Given the description of an element on the screen output the (x, y) to click on. 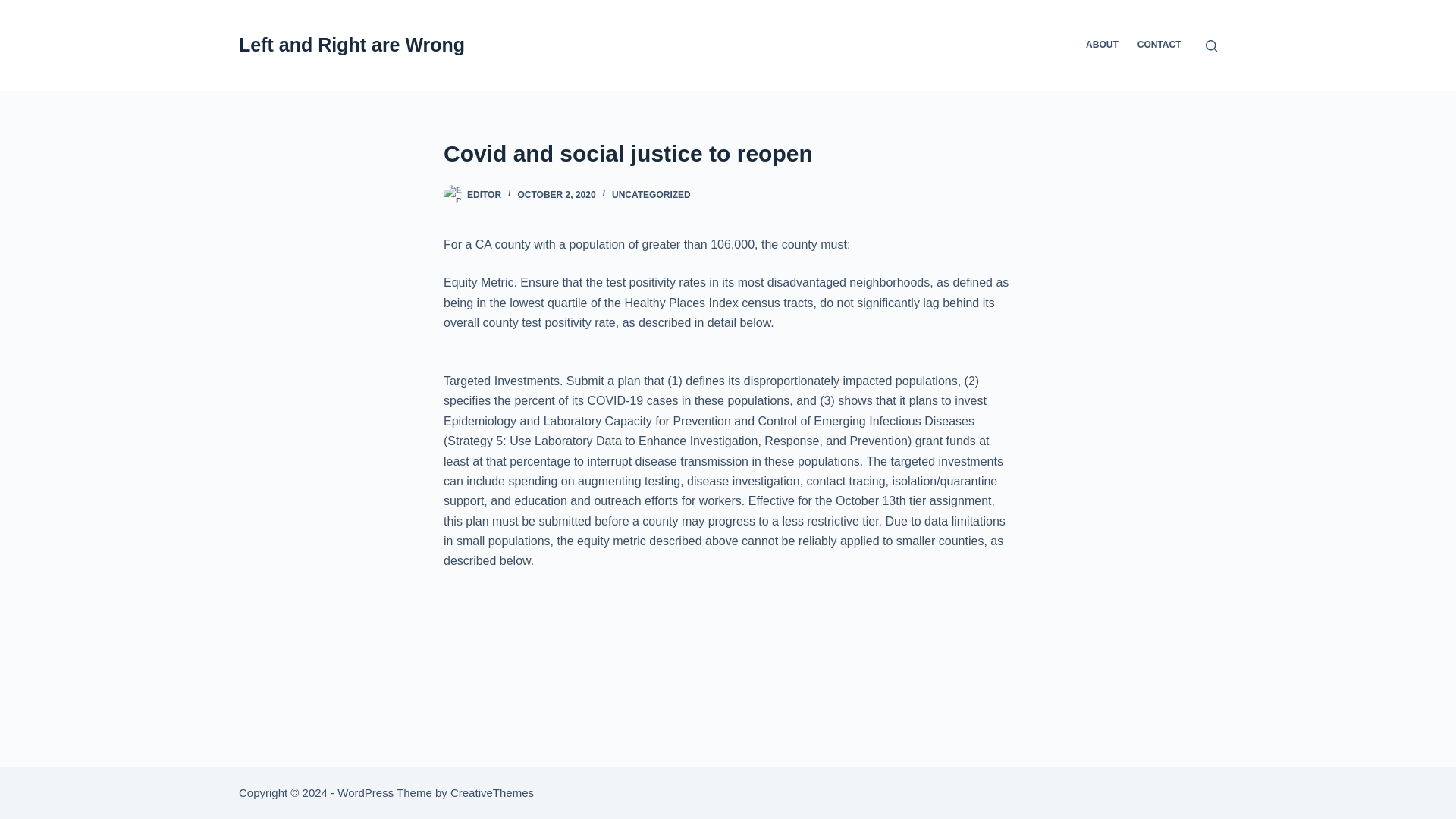
Covid and social justice to reopen (727, 153)
UNCATEGORIZED (650, 194)
CreativeThemes (491, 791)
Left and Right are Wrong (351, 44)
EDITOR (483, 194)
Posts by Editor (483, 194)
Skip to content (15, 7)
